Given the description of an element on the screen output the (x, y) to click on. 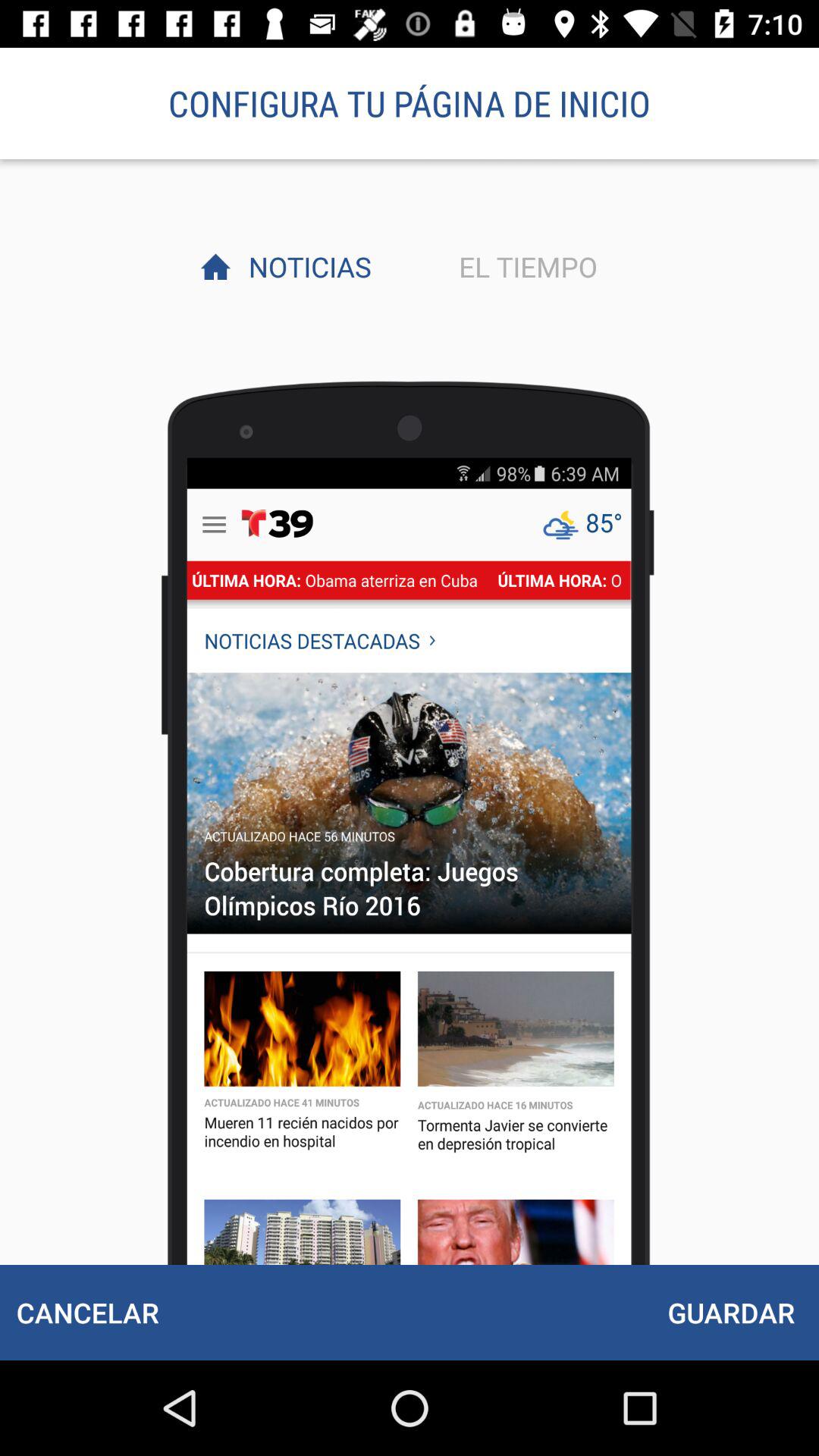
choose icon to the left of guardar (87, 1312)
